Given the description of an element on the screen output the (x, y) to click on. 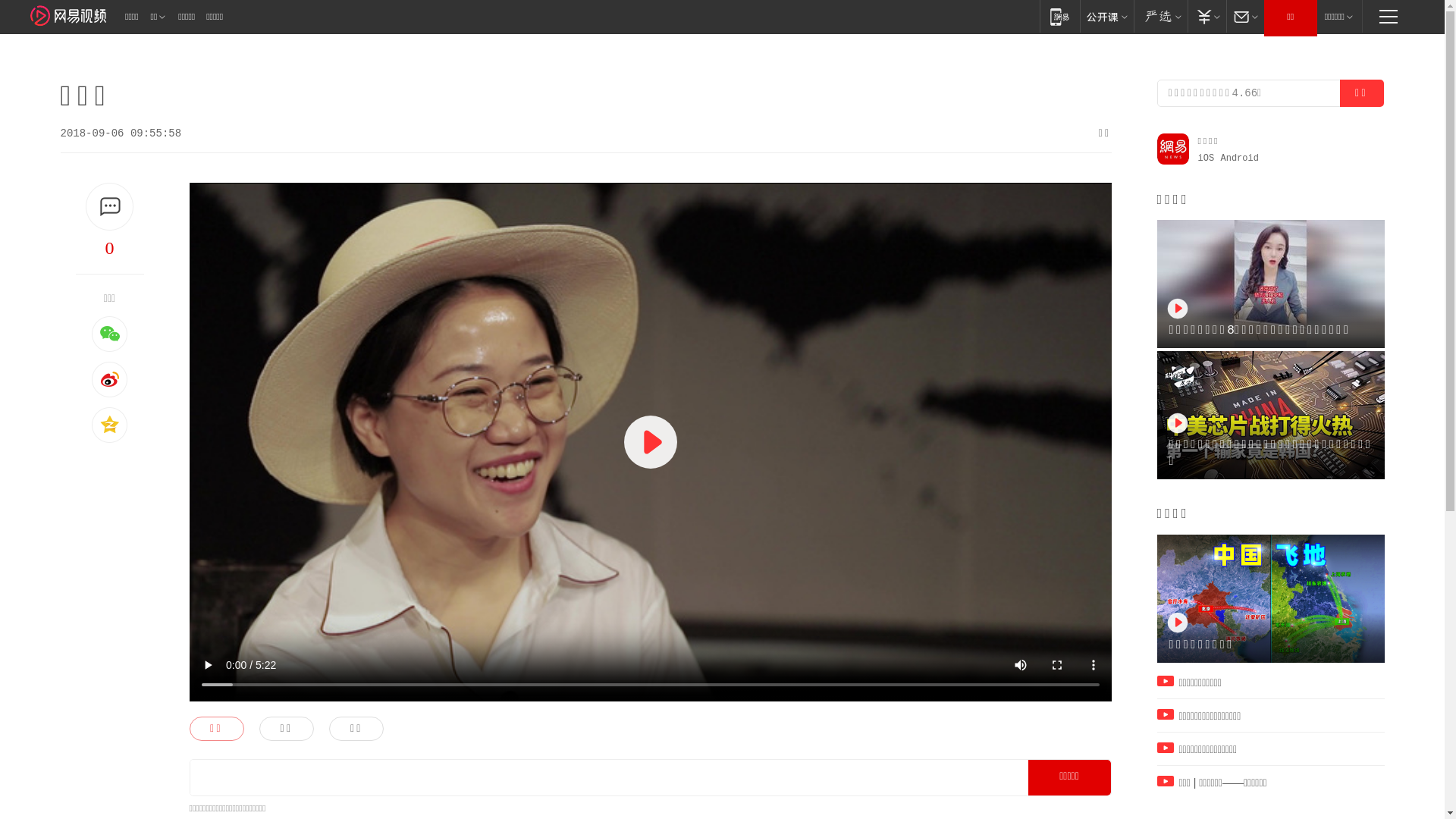
0 Element type: text (109, 247)
iOS Element type: text (1206, 158)
Android Element type: text (1239, 158)
